Given the description of an element on the screen output the (x, y) to click on. 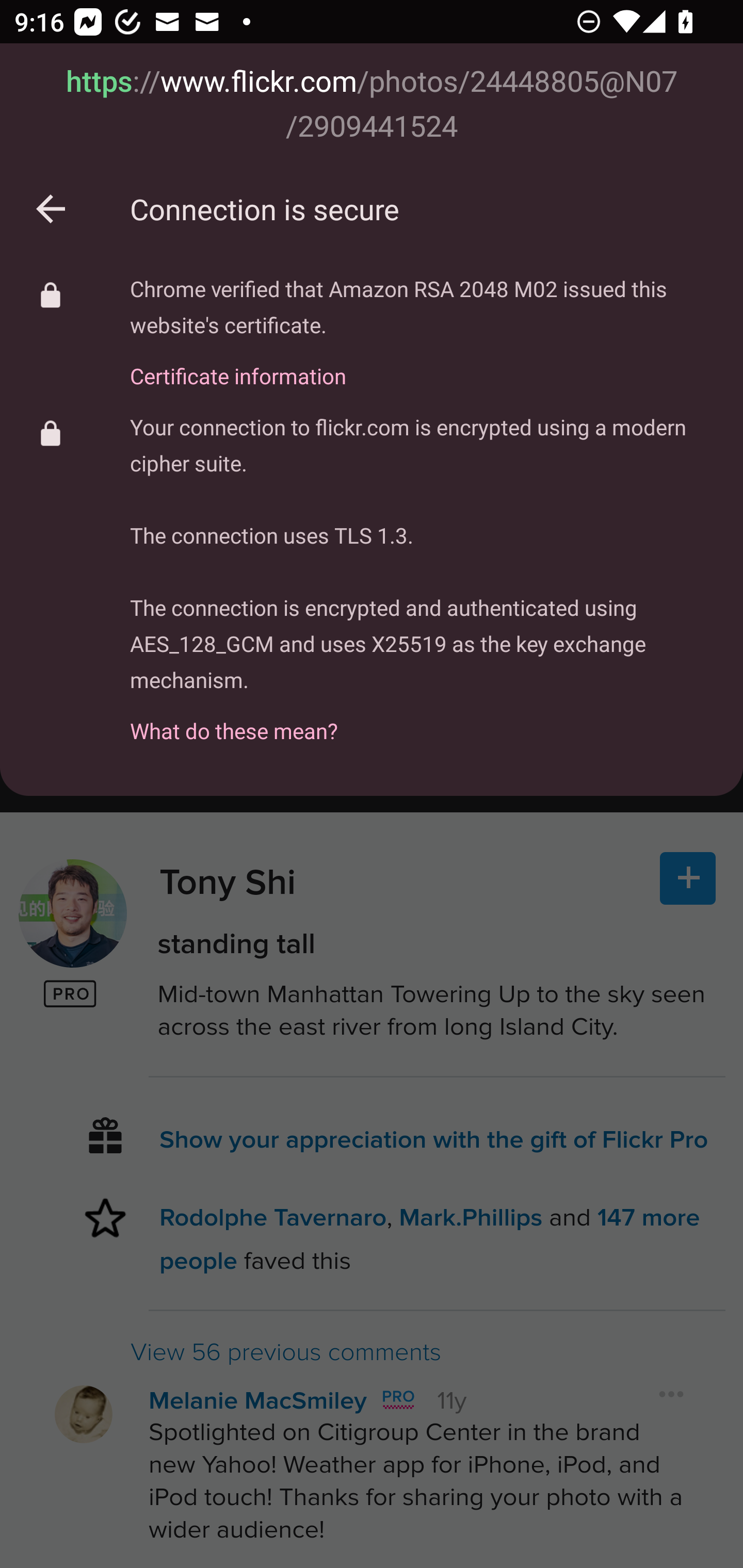
Back (50, 209)
Certificate information (422, 364)
What do these mean? (422, 719)
